Given the description of an element on the screen output the (x, y) to click on. 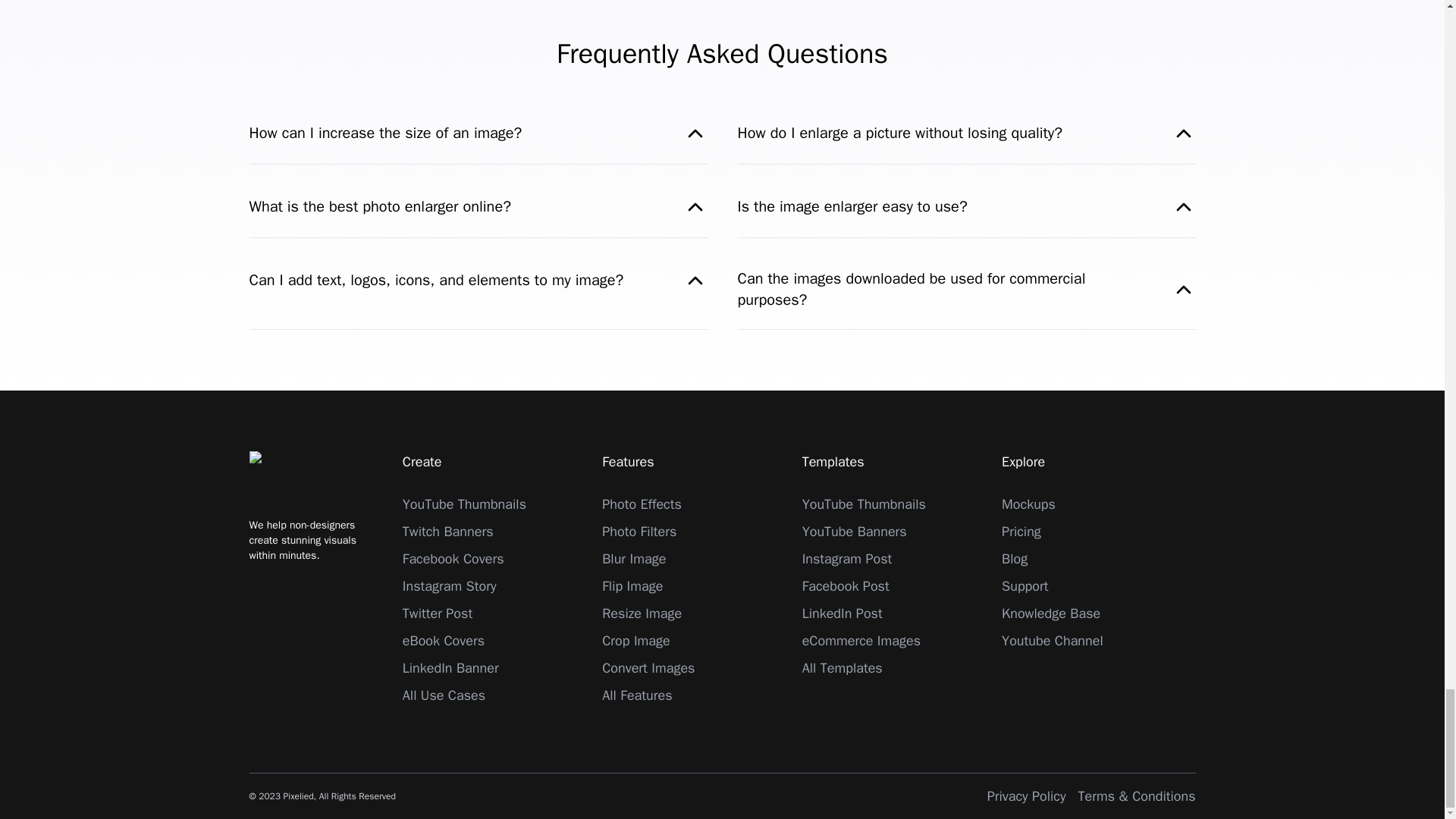
Can I add text, logos, icons, and elements to my image? (477, 280)
How do I enlarge a picture without losing quality? (965, 133)
Facebook Covers (453, 558)
eBook Covers (443, 640)
Is the image enlarger easy to use? (965, 206)
LinkedIn Banner (451, 668)
All Use Cases (443, 695)
Twitch Banners (448, 531)
YouTube Thumbnails (464, 504)
Can the images downloaded be used for commercial purposes? (965, 289)
What is the best photo enlarger online? (477, 206)
Photo Effects (641, 504)
How can I increase the size of an image? (477, 133)
Photo Filters (639, 531)
Twitter Post (437, 613)
